Given the description of an element on the screen output the (x, y) to click on. 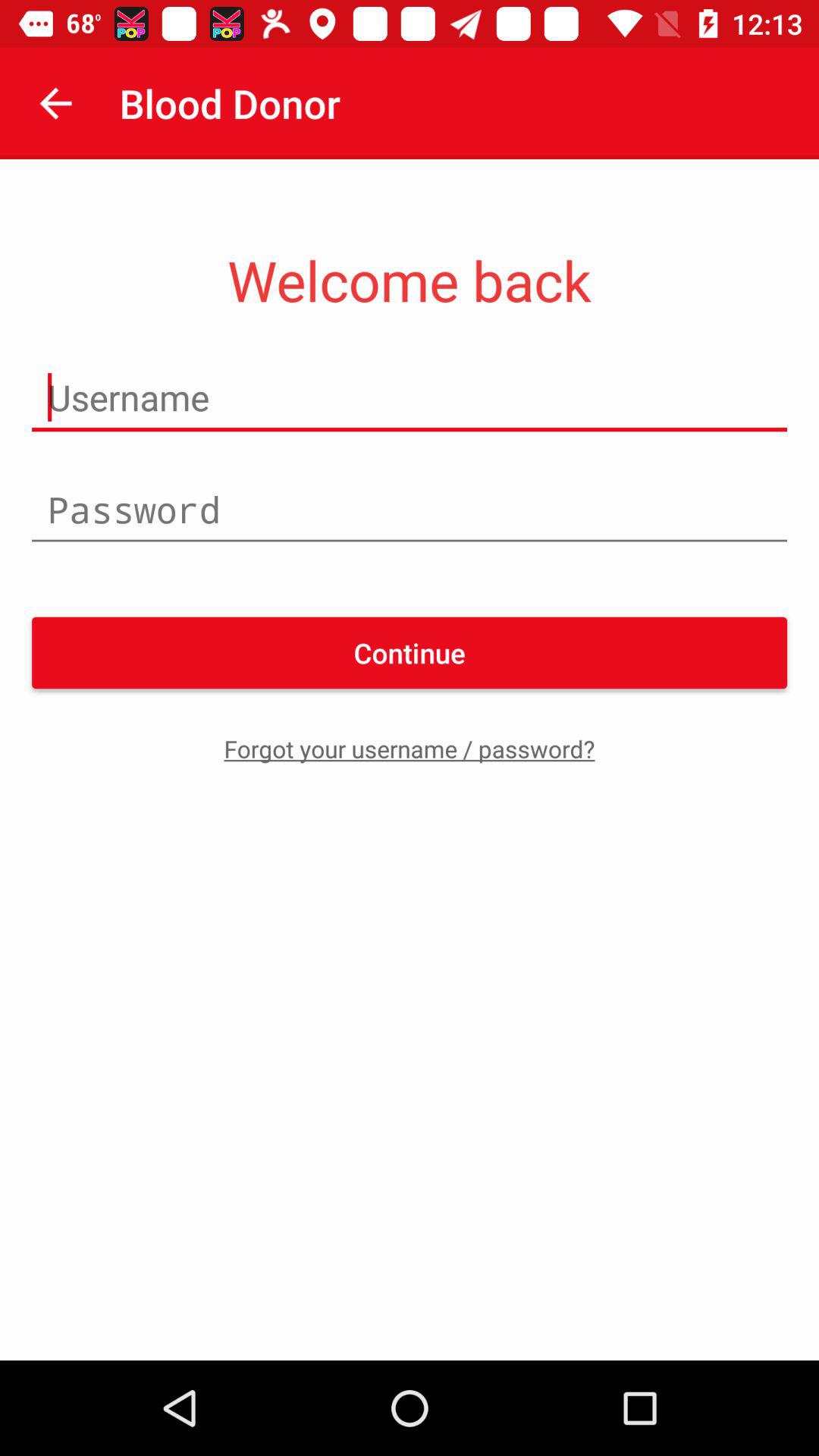
flip until the continue icon (409, 652)
